Given the description of an element on the screen output the (x, y) to click on. 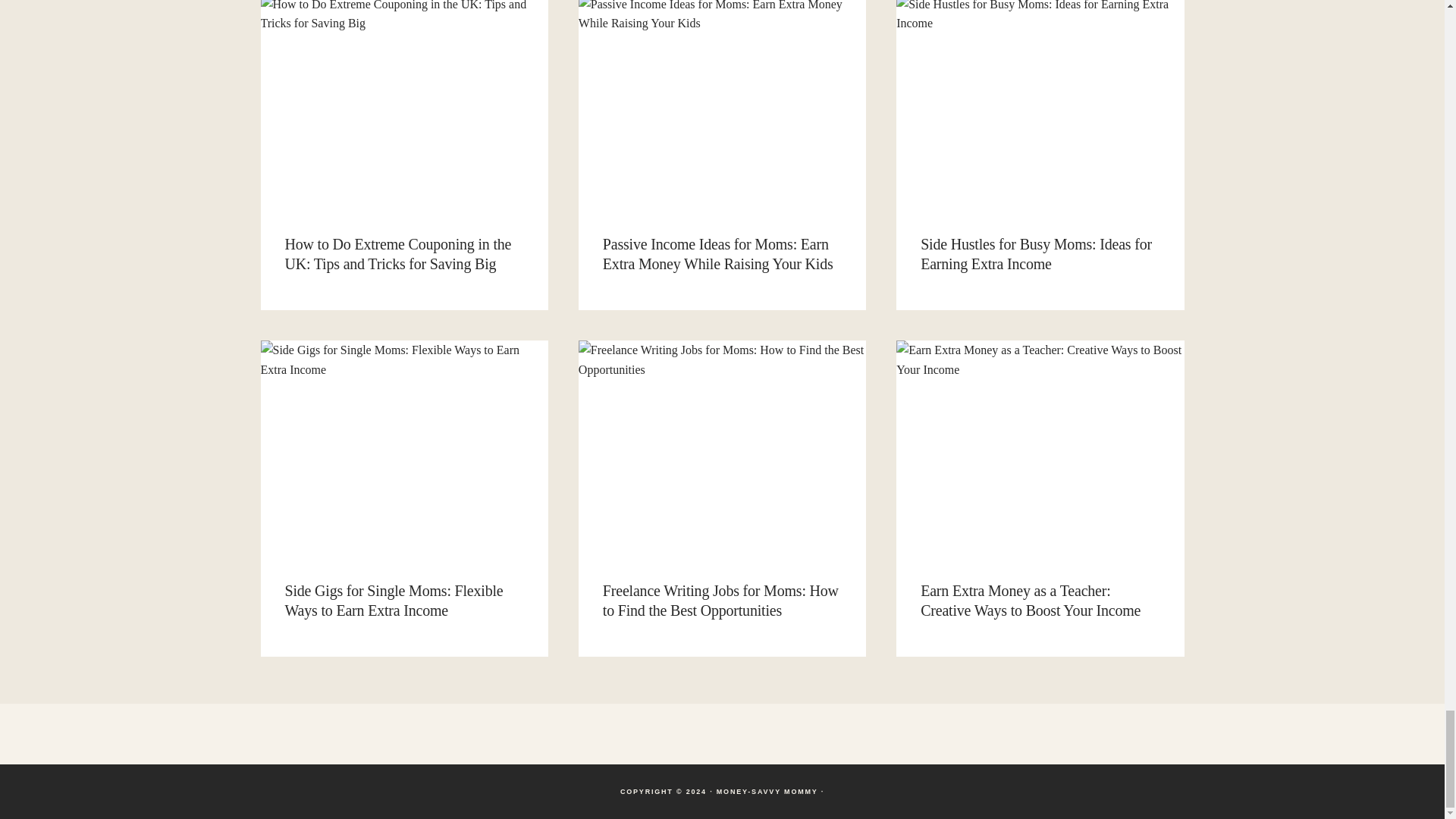
Side Hustles for Busy Moms: Ideas for Earning Extra Income (1035, 253)
